Given the description of an element on the screen output the (x, y) to click on. 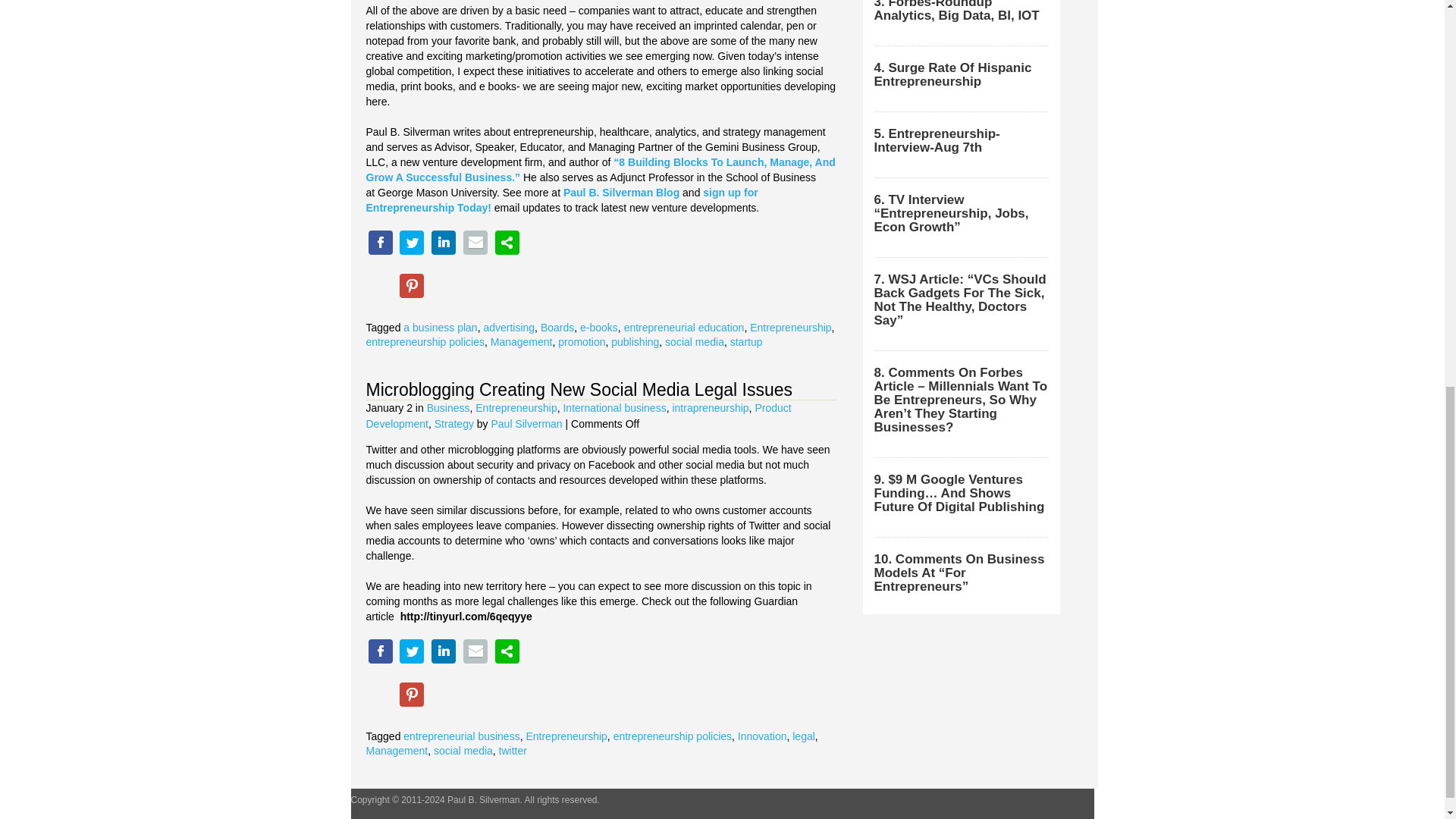
e-books (598, 327)
Management (521, 341)
Paul B. Silverman Blog (621, 192)
Entrepreneurship (790, 327)
publishing (635, 341)
advertising (508, 327)
Boards (556, 327)
promotion (581, 341)
entrepreneurial education (684, 327)
